Given the description of an element on the screen output the (x, y) to click on. 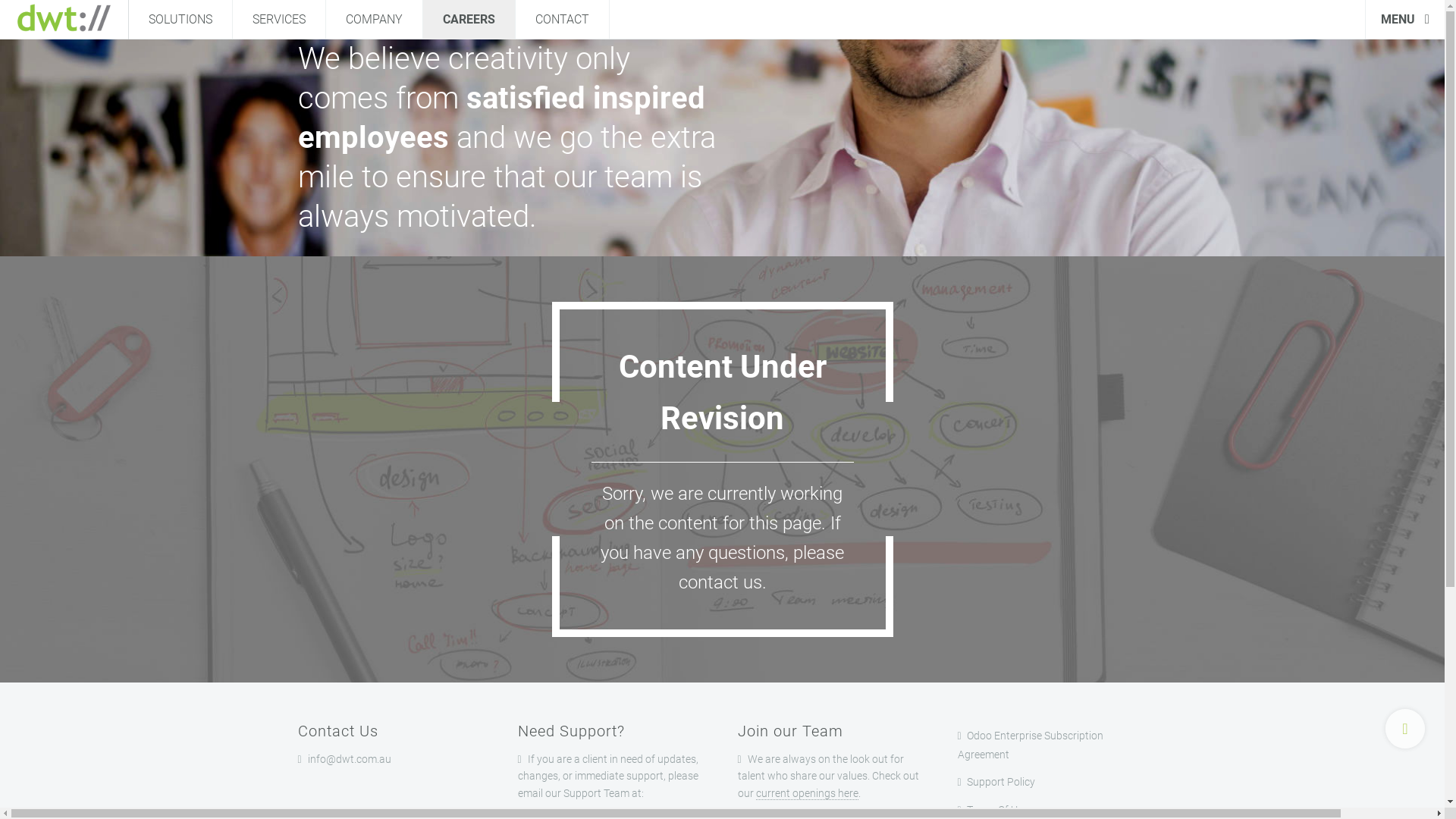
MENU Element type: text (1404, 19)
current openings here Element type: text (806, 793)
Odoo Enterprise Subscription Agreement Element type: text (1051, 744)
Back to Top Element type: hover (1404, 728)
SERVICES Element type: text (278, 19)
CONTACT Element type: text (561, 19)
Support Policy Element type: text (1051, 781)
SOLUTIONS Element type: text (180, 19)
Dynamic Web Technologies Element type: hover (63, 19)
COMPANY Element type: text (374, 19)
CAREERS Element type: text (468, 19)
